Given the description of an element on the screen output the (x, y) to click on. 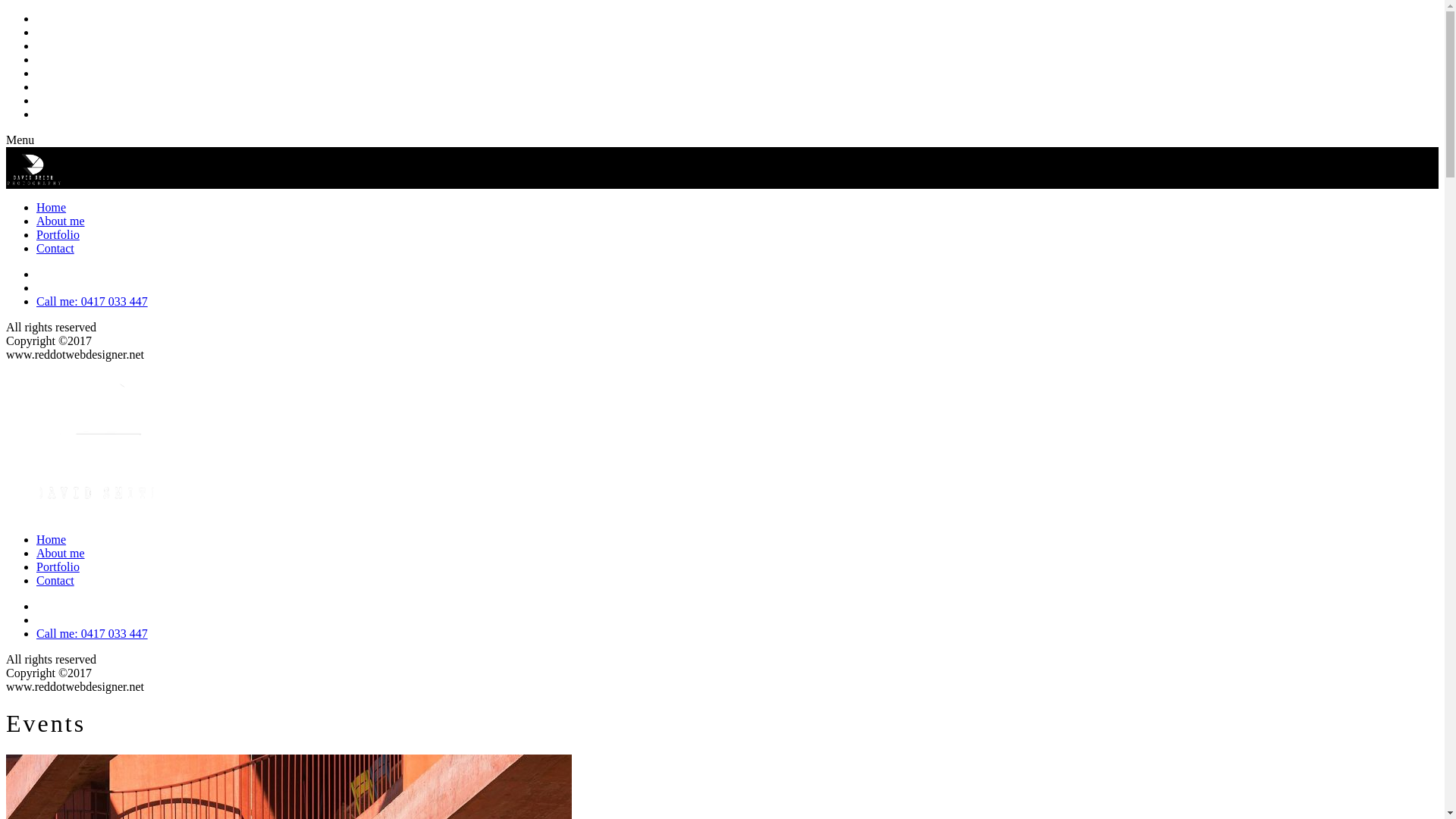
Portfolio Element type: text (57, 234)
Call me: 0417 033 447 Element type: text (91, 300)
Portfolio Element type: text (57, 566)
About me Element type: text (60, 552)
Home Element type: text (50, 206)
About me Element type: text (60, 220)
Call me: 0417 033 447 Element type: text (91, 633)
Home Element type: text (50, 539)
Contact Element type: text (55, 580)
Contact Element type: text (55, 247)
